Given the description of an element on the screen output the (x, y) to click on. 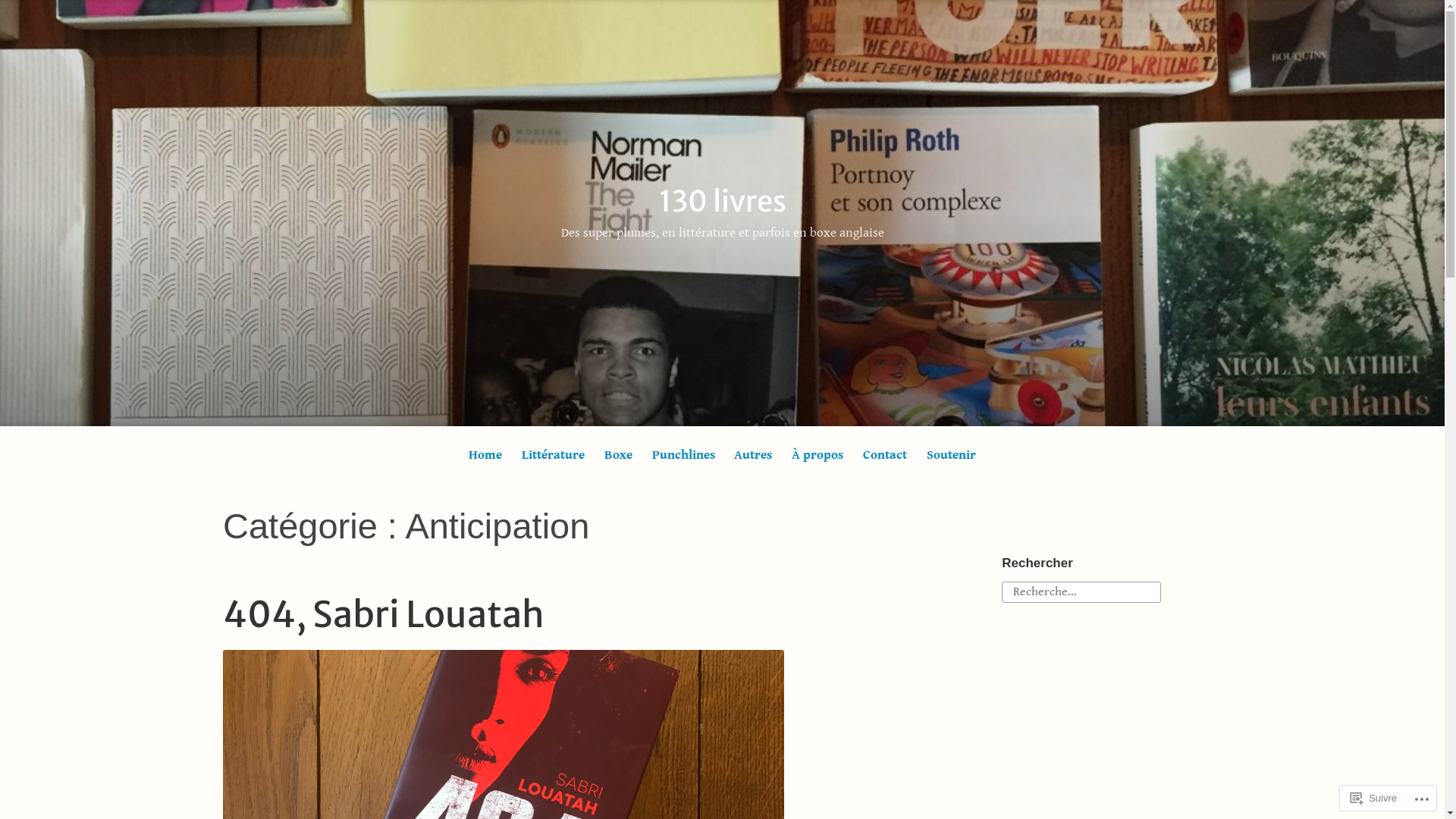
Contact Element type: text (885, 455)
Suivre Element type: text (1373, 797)
Home Element type: text (484, 455)
Soutenir Element type: text (951, 455)
404, Sabri Louatah Element type: text (383, 614)
Rechercher Element type: text (41, 16)
130 livres Element type: text (721, 201)
Autres Element type: text (753, 455)
Punchlines Element type: text (683, 455)
Boxe Element type: text (617, 455)
